Given the description of an element on the screen output the (x, y) to click on. 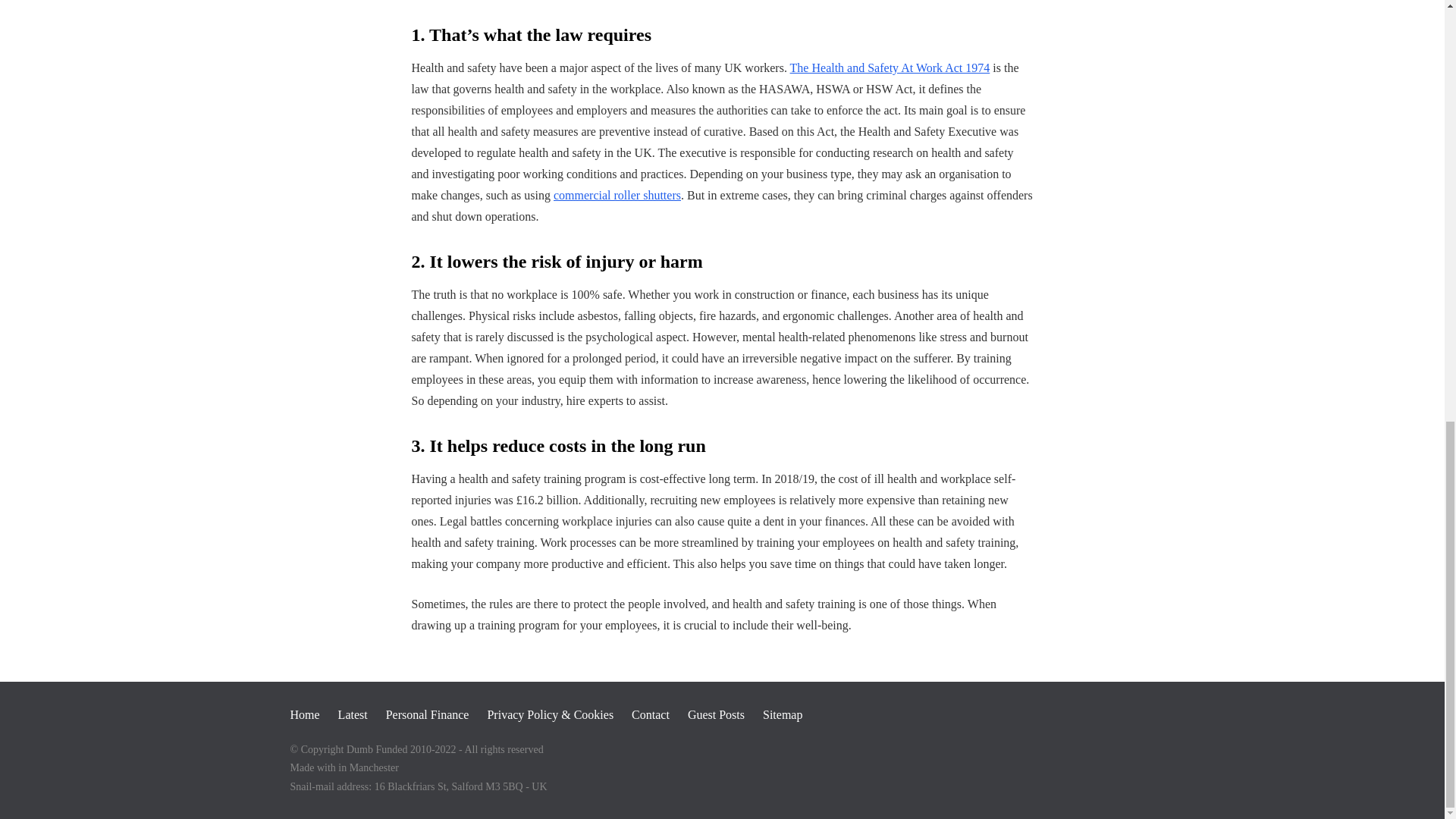
The Health and Safety At Work Act 1974 (890, 67)
commercial roller shutters (617, 195)
Personal Finance (426, 714)
Home (303, 714)
Contact (650, 714)
Latest (352, 714)
Sitemap (782, 714)
Guest Posts (715, 714)
